Given the description of an element on the screen output the (x, y) to click on. 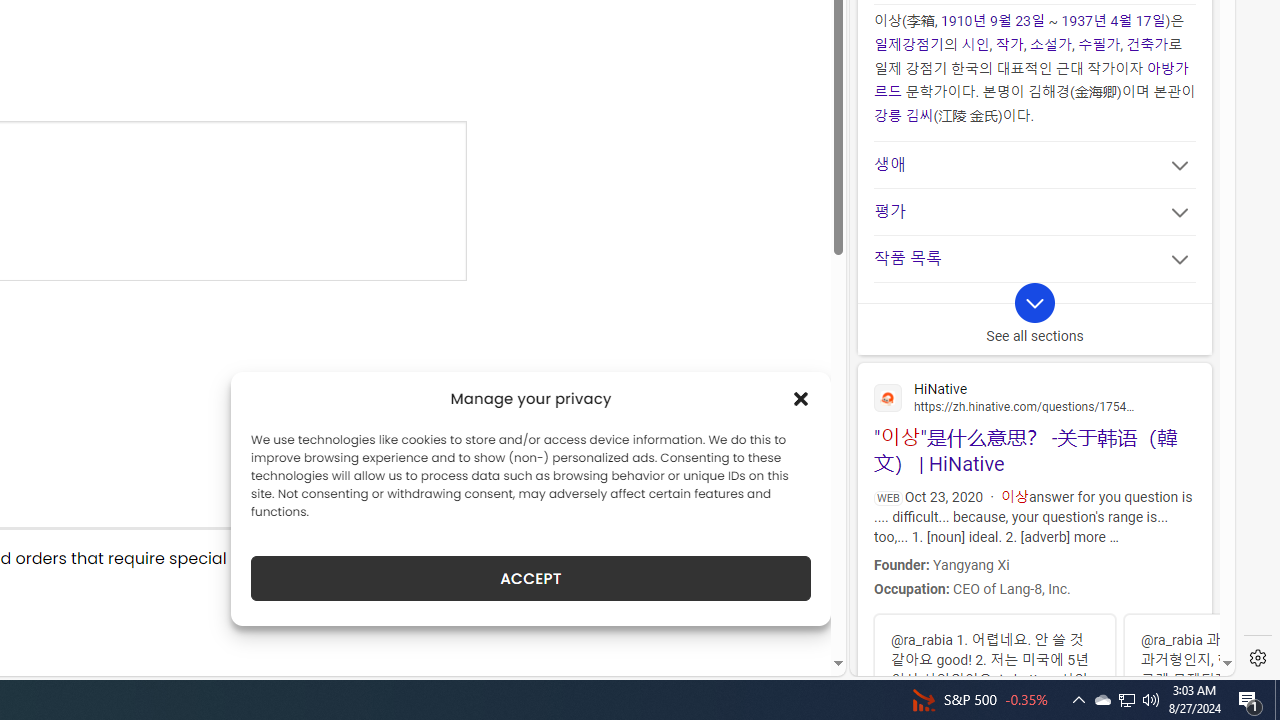
ACCEPT (530, 578)
Founder: Yangyang Xi (1032, 561)
Class: cmplz-close (801, 398)
